Given the description of an element on the screen output the (x, y) to click on. 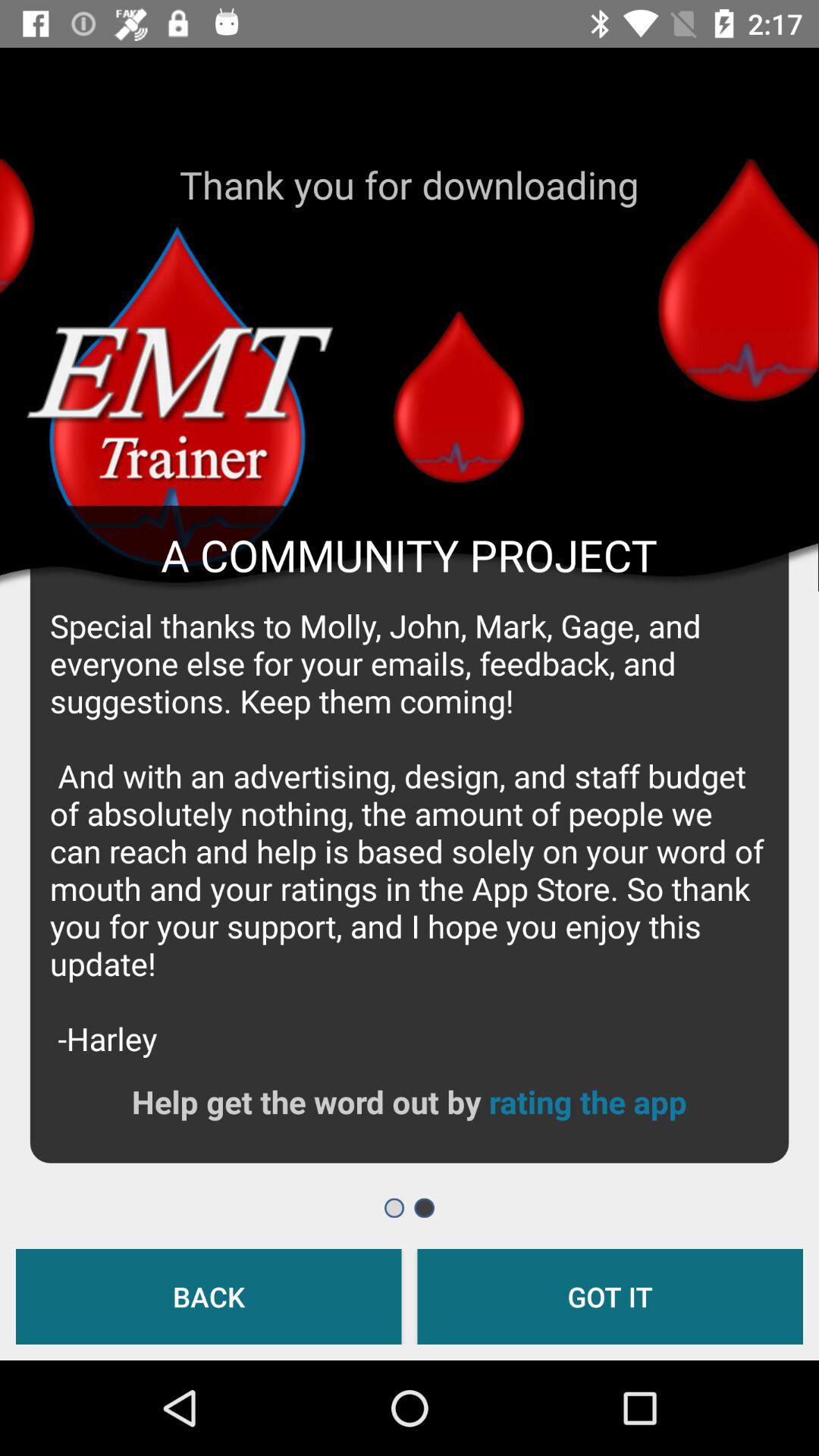
turn on item below the special thanks to (588, 1101)
